Given the description of an element on the screen output the (x, y) to click on. 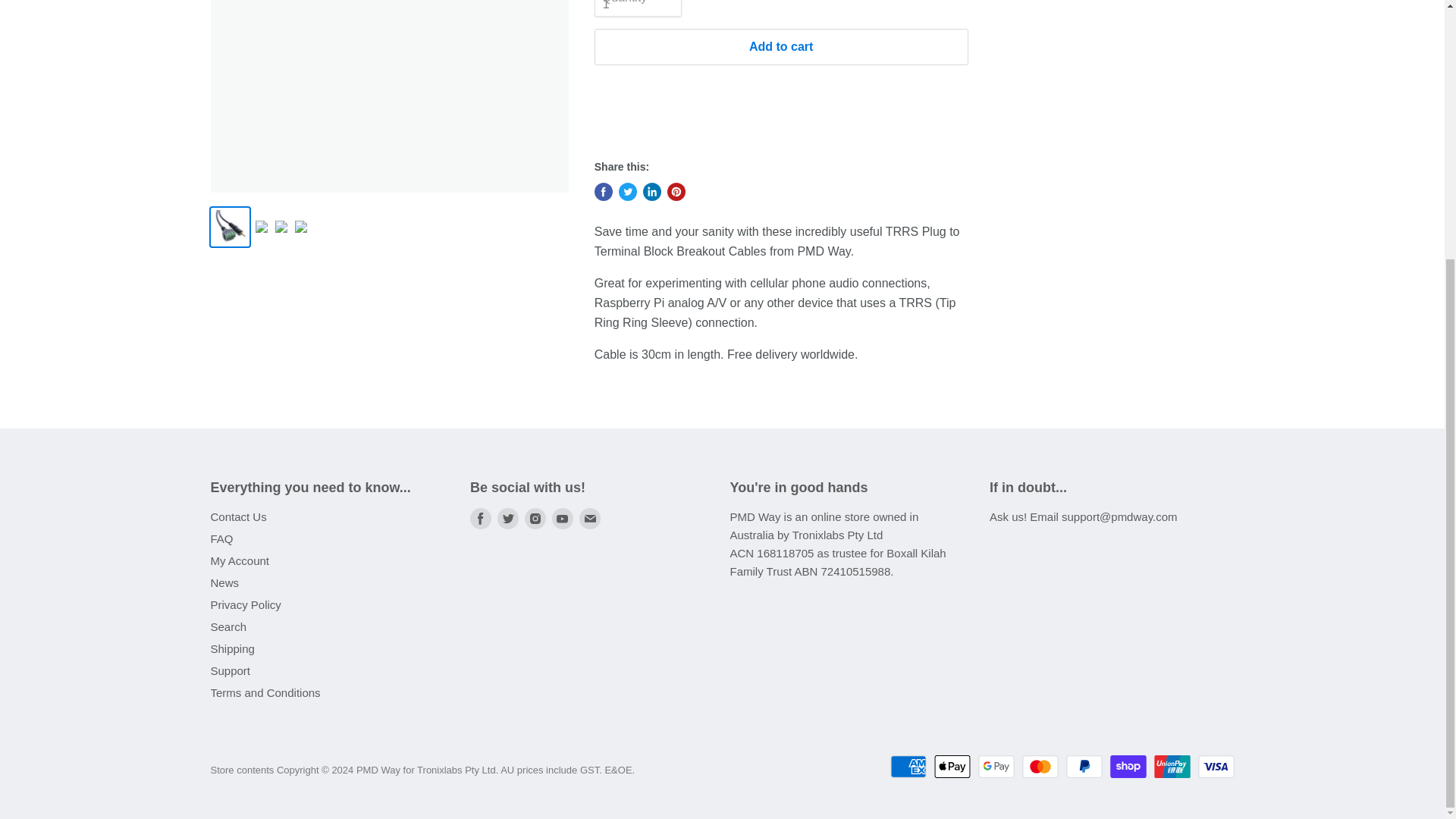
Instagram (534, 518)
E-mail (590, 518)
Youtube (562, 518)
Twitter (508, 518)
Facebook (481, 518)
